Given the description of an element on the screen output the (x, y) to click on. 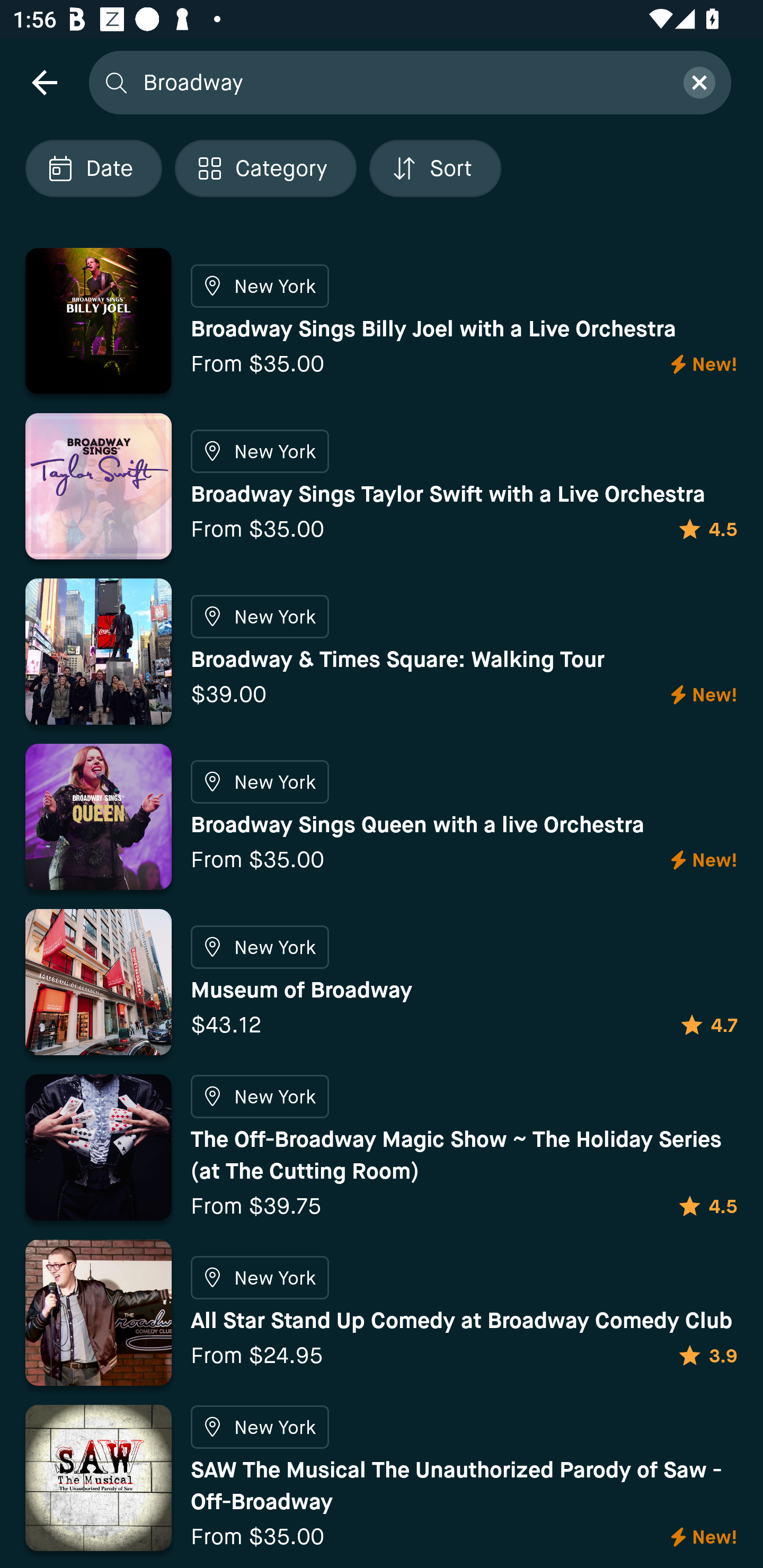
navigation icon (44, 81)
Broadway (402, 81)
Localized description Date (93, 168)
Localized description Category (265, 168)
Localized description Sort (435, 168)
